Given the description of an element on the screen output the (x, y) to click on. 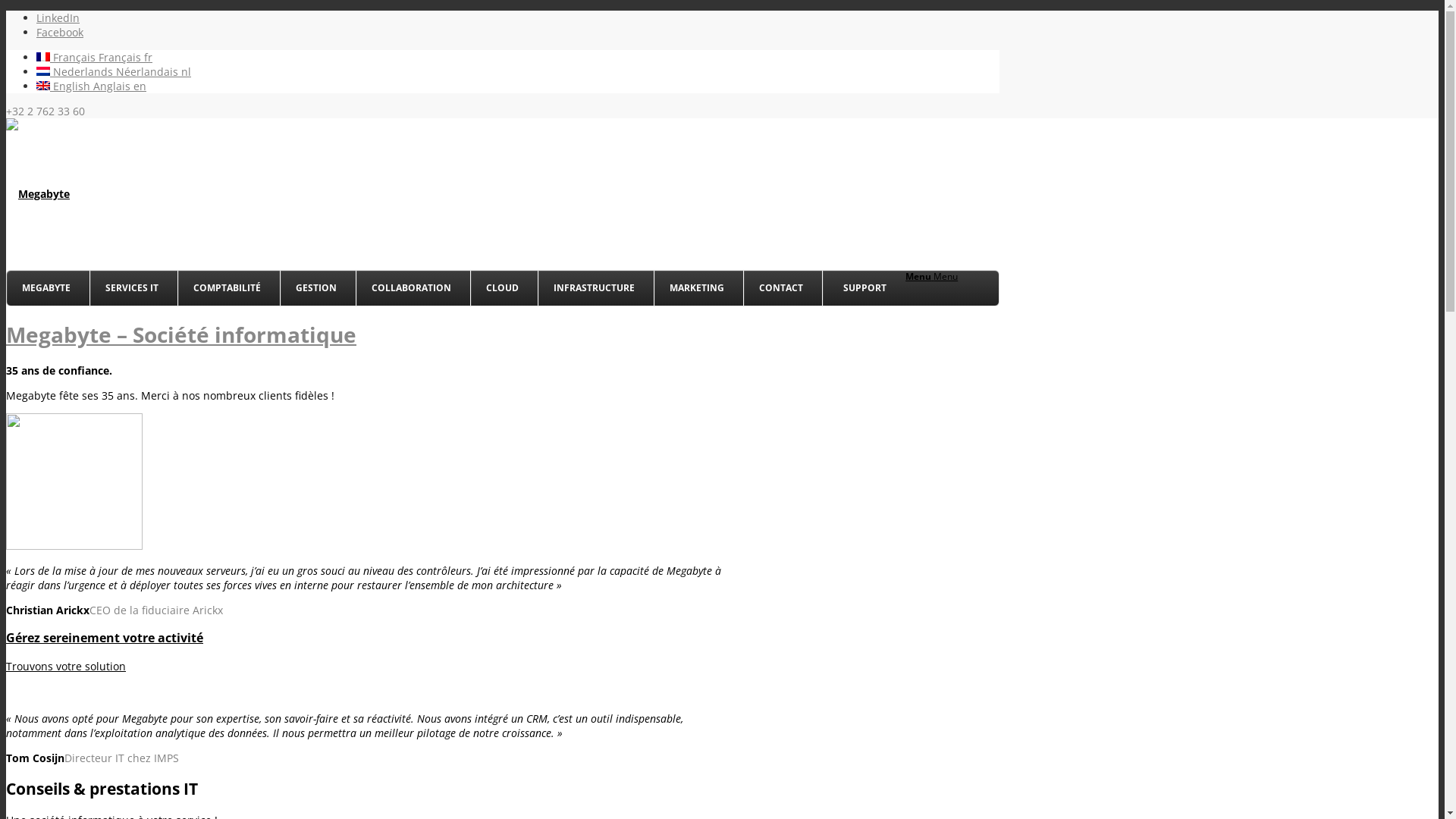
English Element type: hover (43, 85)
CONTACT Element type: text (782, 287)
Envoyer Element type: text (438, 669)
SERVICES IT Element type: text (133, 287)
GESTION Element type: text (317, 287)
CLOUD Element type: text (503, 287)
INFRASTRUCTURE Element type: text (595, 287)
LinkedIn Element type: text (57, 17)
Menu Menu Element type: text (931, 275)
logo-megabyte Element type: hover (37, 193)
COLLABORATION Element type: text (412, 287)
SUPPORT Element type: text (863, 287)
English Anglais en Element type: text (91, 85)
Nederlands Element type: hover (43, 70)
MARKETING Element type: text (698, 287)
MEGABYTE Element type: text (47, 287)
Facebook Element type: text (59, 32)
Trouvons votre solution Element type: text (65, 665)
